Given the description of an element on the screen output the (x, y) to click on. 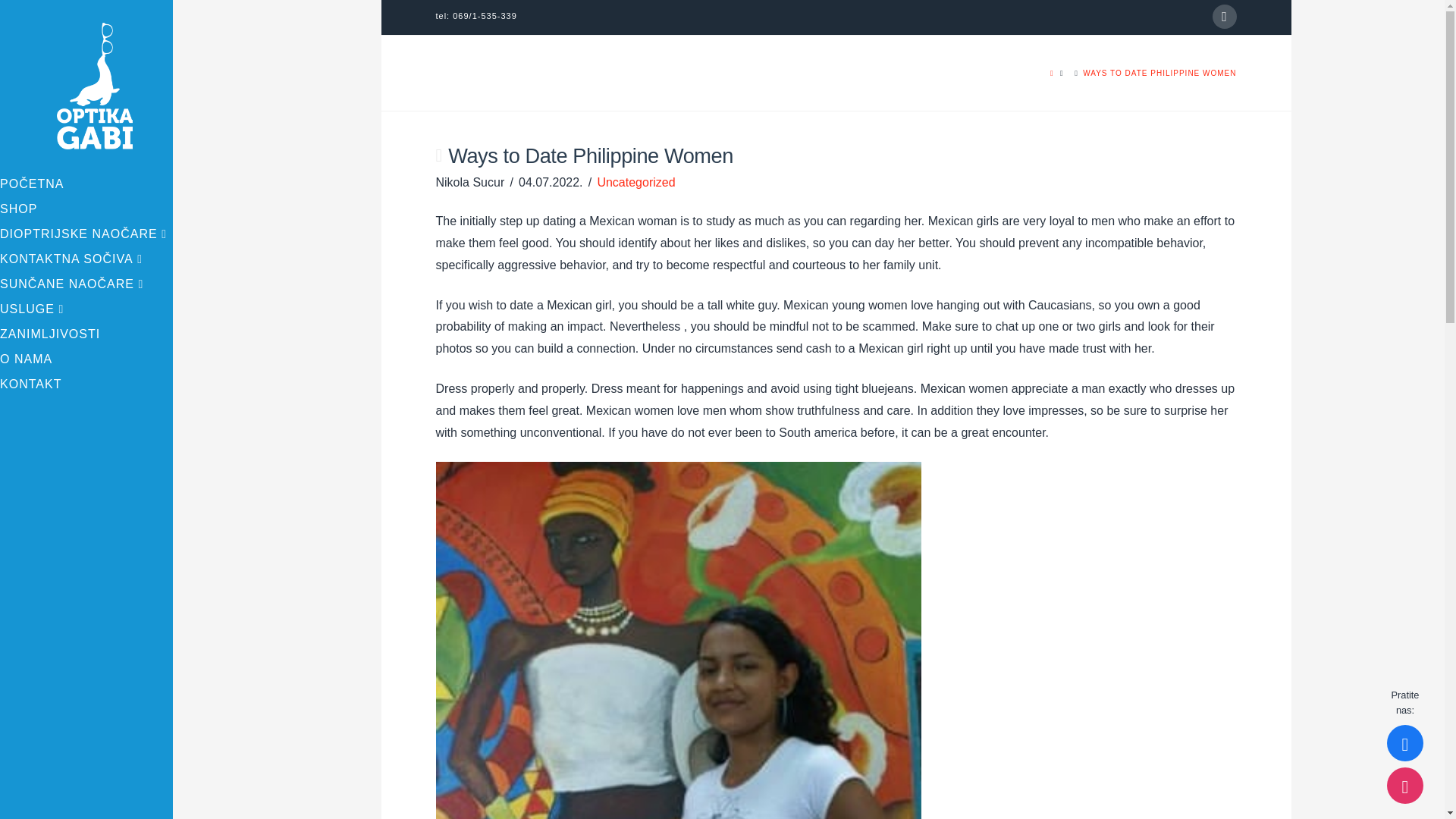
Pratite nas na instagramu (1405, 785)
You Are Here (1159, 72)
USLUGE (86, 310)
Pratite nas na Facebook-u (1405, 742)
ZANIMLJIVOSTI (86, 335)
SHOP (86, 211)
Facebook (1223, 16)
KONTAKT (86, 385)
O NAMA (86, 360)
